Given the description of an element on the screen output the (x, y) to click on. 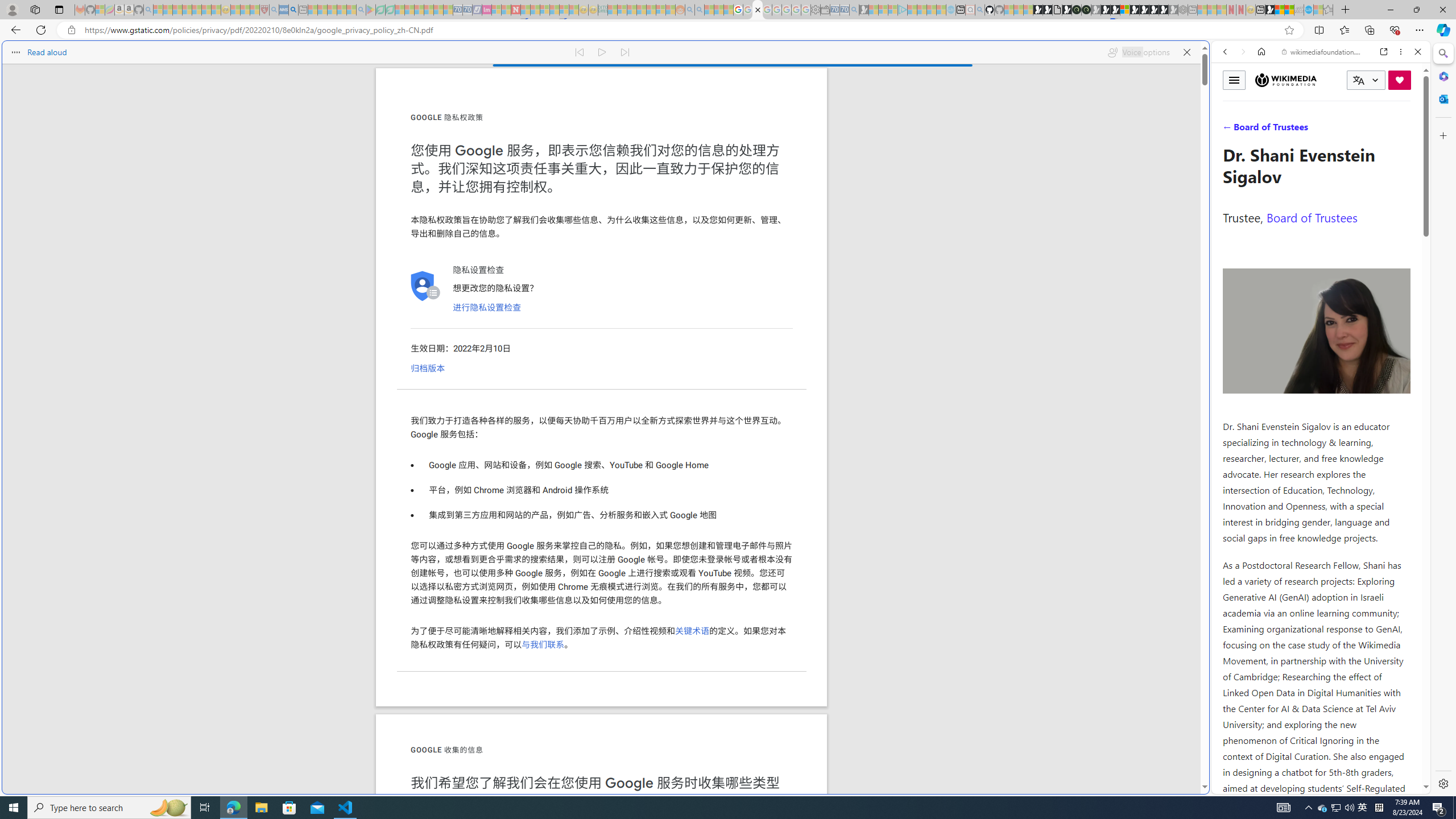
Donate now (1399, 80)
Wiktionary (1315, 380)
Class: i icon icon-translate language-switcher__icon (1358, 80)
